Given the description of an element on the screen output the (x, y) to click on. 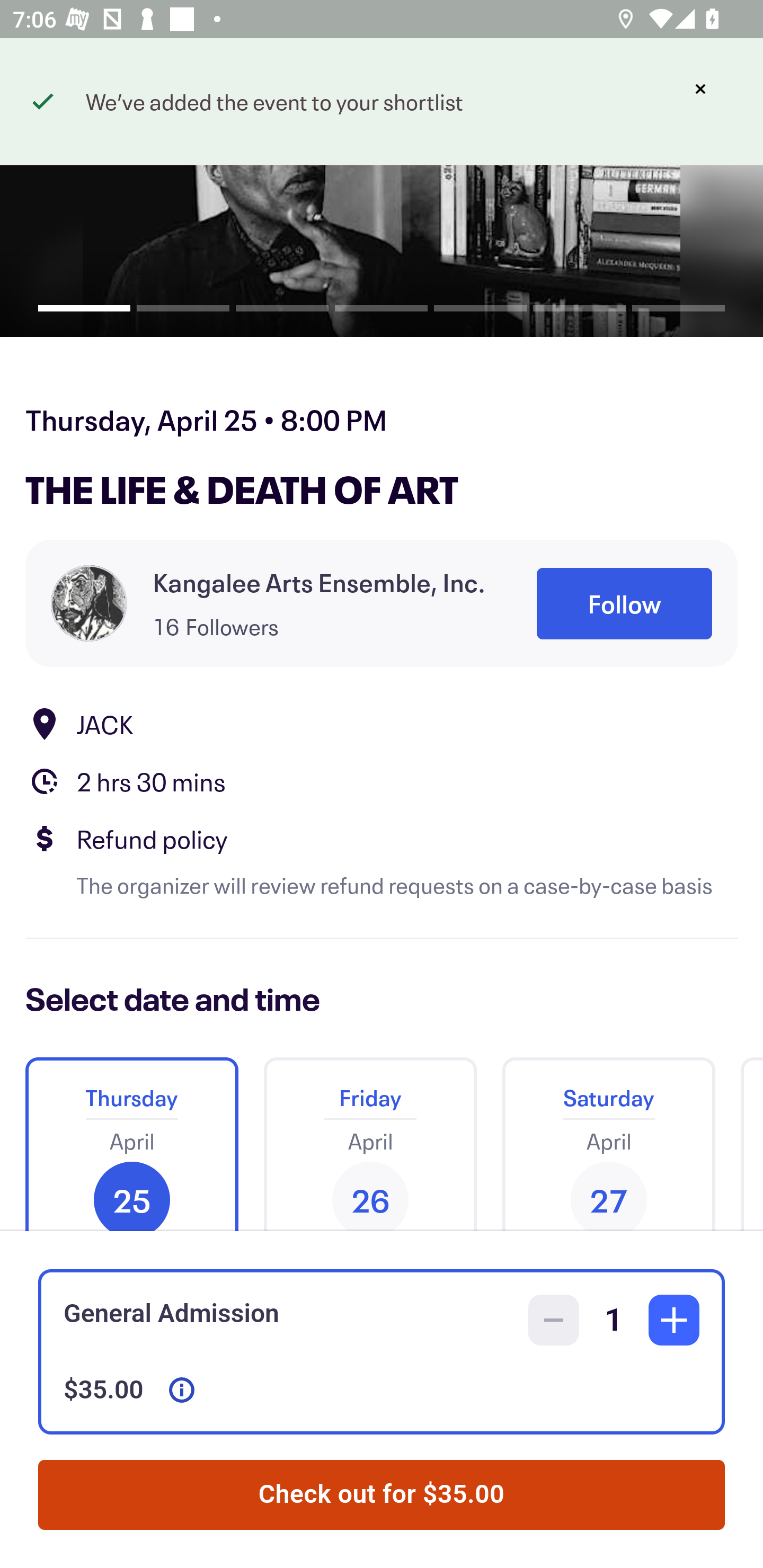
Dismiss notification (700, 89)
Back (57, 94)
Kangalee Arts Ensemble, Inc. (319, 582)
Organizer profile picture (89, 602)
Follow (623, 603)
Location JACK (381, 724)
Thursday April 25 (131, 1137)
Friday April 26 (370, 1137)
Saturday April 27 (608, 1137)
